Given the description of an element on the screen output the (x, y) to click on. 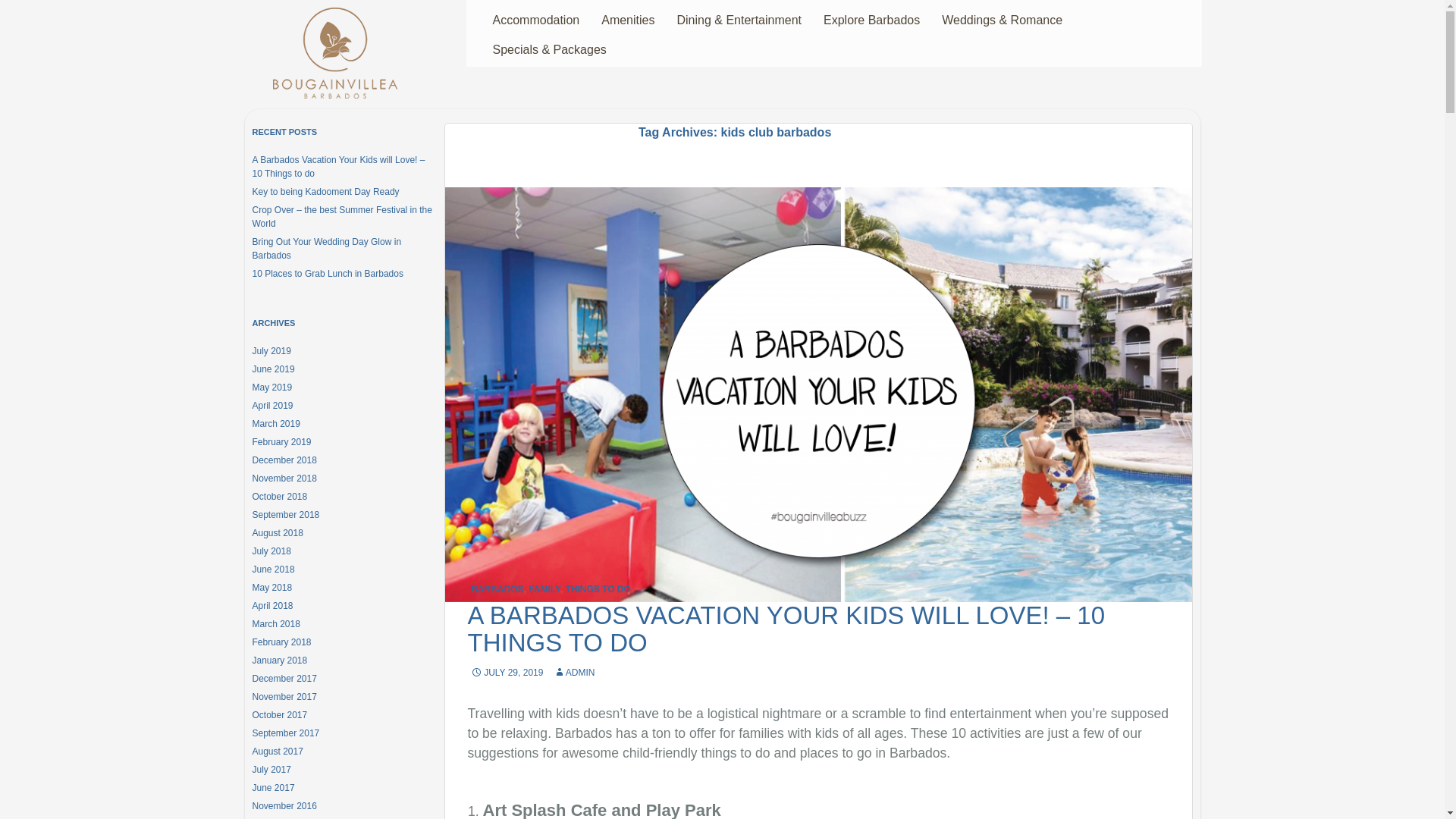
JULY 29, 2019 (506, 672)
Amenities (627, 21)
ADMIN (574, 672)
Accommodation (534, 21)
Explore Barbados (871, 21)
Tag Archives: kids club barbados (817, 132)
THINGS TO DO (597, 588)
FAMILY (544, 588)
BARBADOS (496, 588)
